Given the description of an element on the screen output the (x, y) to click on. 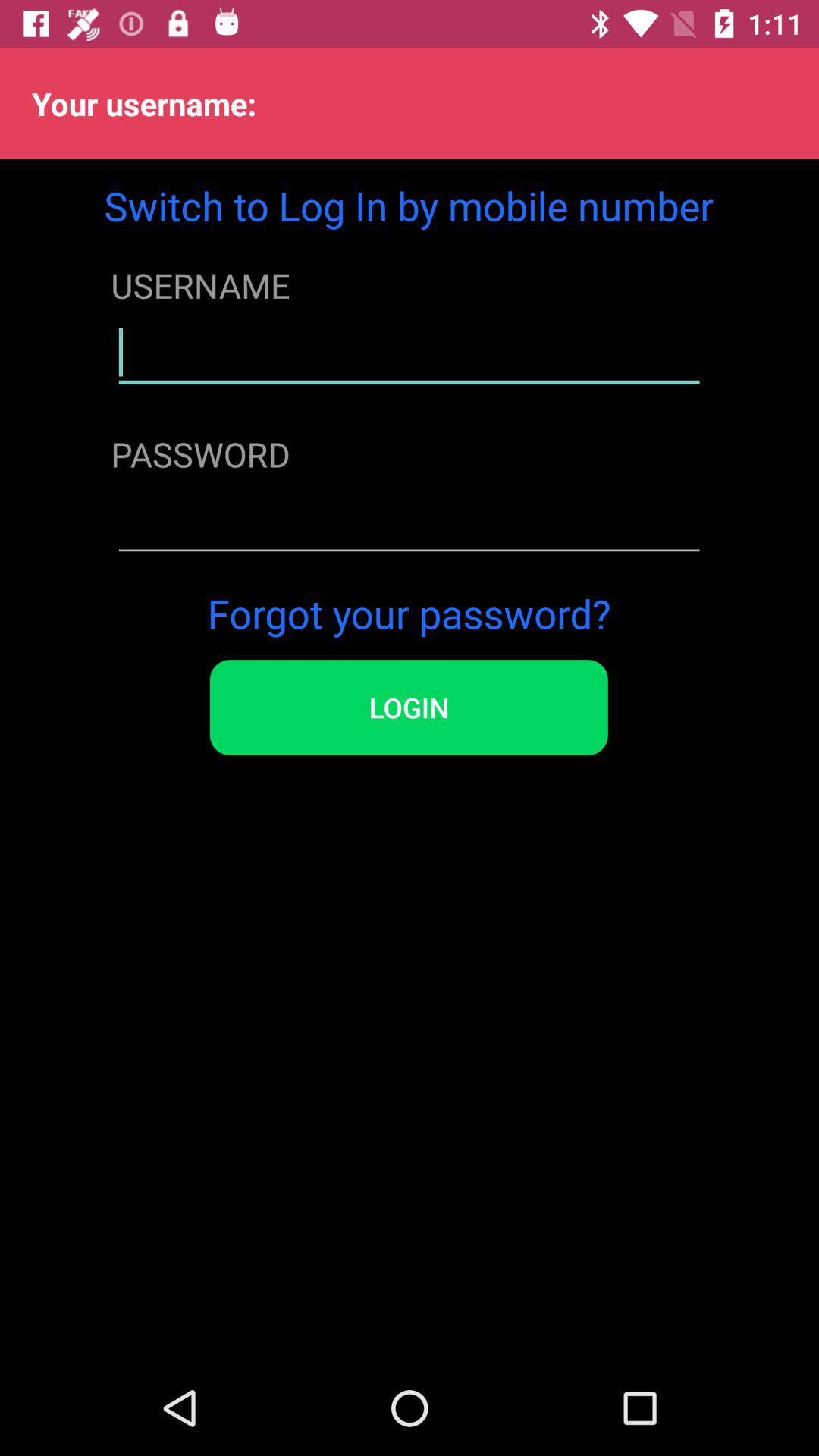
password entry box (408, 522)
